Given the description of an element on the screen output the (x, y) to click on. 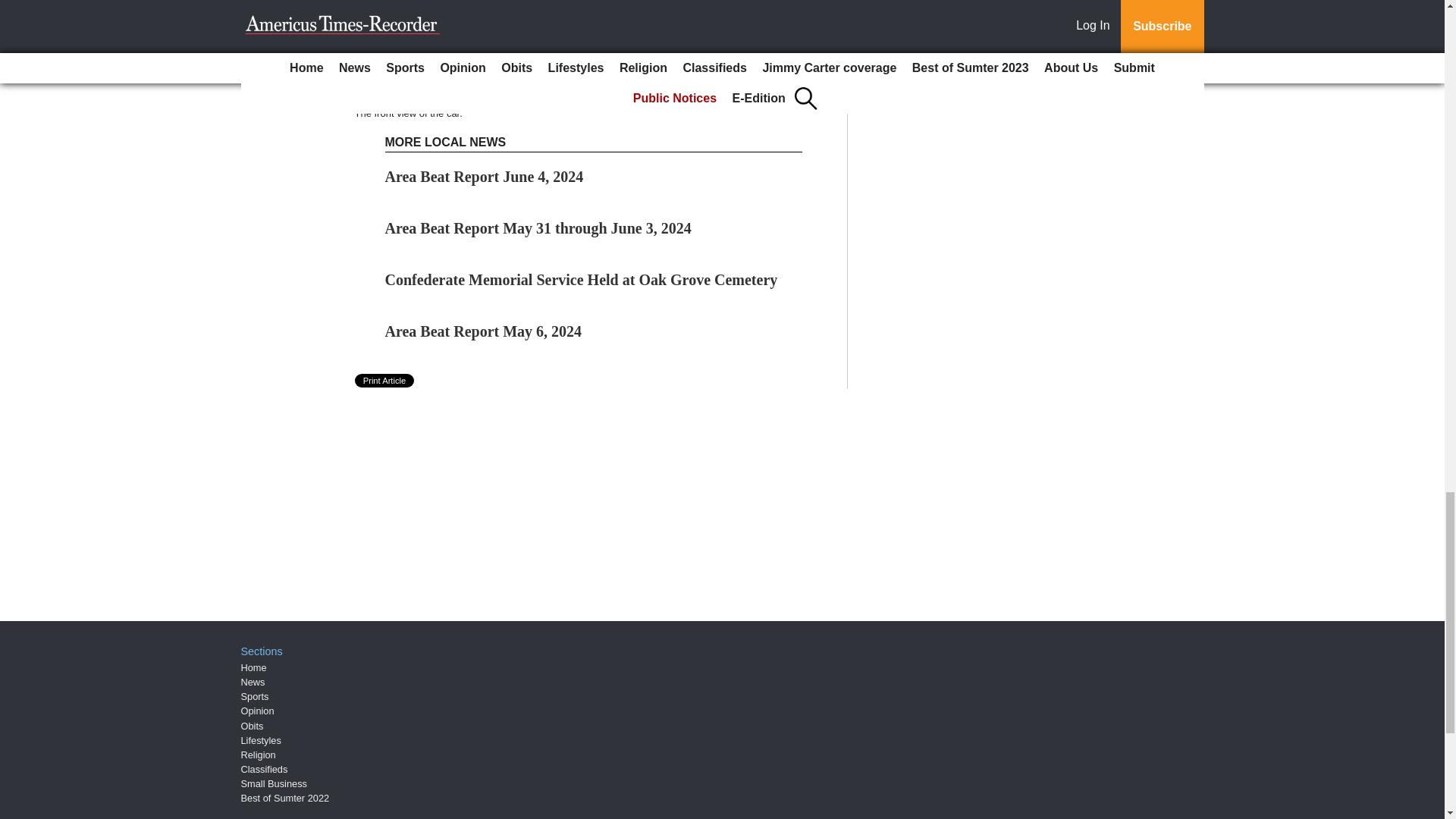
Obits (252, 726)
Confederate Memorial Service Held at Oak Grove Cemetery (581, 279)
Lifestyles (261, 740)
News (252, 681)
Confederate Memorial Service Held at Oak Grove Cemetery (581, 279)
Area Beat Report May 6, 2024 (483, 330)
Classifieds (264, 768)
Best of Sumter 2022 (285, 797)
Opinion (258, 710)
Area Beat Report June 4, 2024 (484, 176)
Area Beat Report May 31 through June 3, 2024 (538, 228)
Sports (255, 696)
Area Beat Report May 31 through June 3, 2024 (538, 228)
Area Beat Report June 4, 2024 (484, 176)
Home (253, 667)
